Given the description of an element on the screen output the (x, y) to click on. 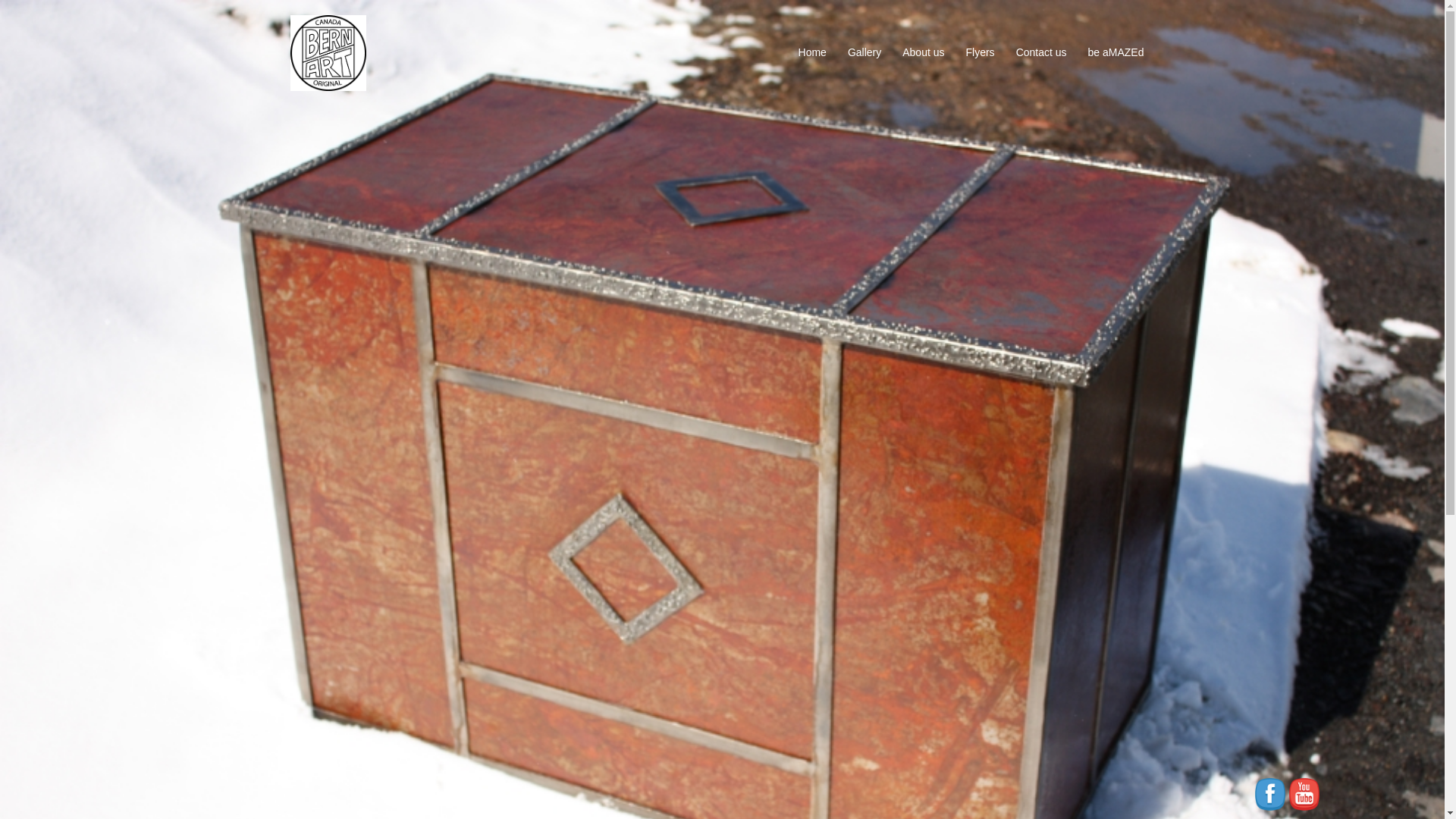
be aMAZEd Element type: text (1116, 52)
Home Element type: text (812, 52)
Contact us Element type: text (1041, 52)
YouTube Element type: hover (1304, 794)
About us Element type: text (923, 52)
Skip to content Element type: text (0, 0)
bernart Element type: hover (327, 51)
Search Element type: text (49, 18)
Flyers Element type: text (980, 52)
Gallery Element type: text (864, 52)
Facebook Element type: hover (1270, 794)
